Given the description of an element on the screen output the (x, y) to click on. 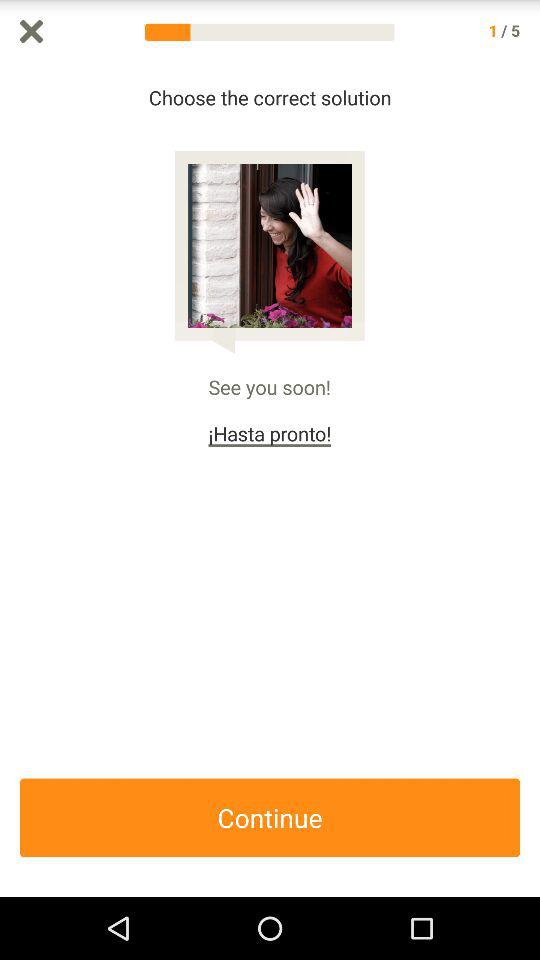
exit (31, 31)
